Given the description of an element on the screen output the (x, y) to click on. 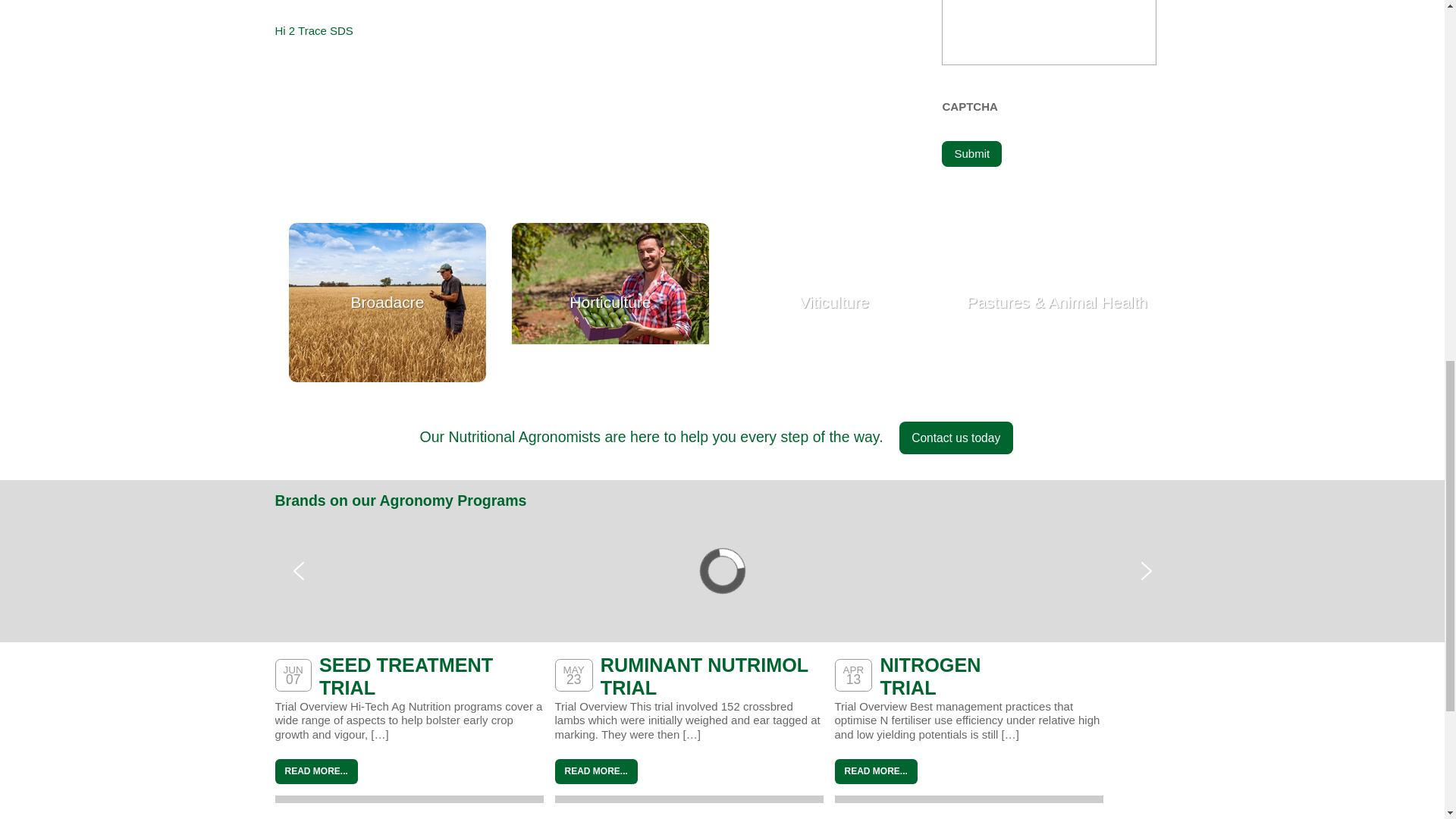
Contact us today (956, 437)
READ MORE... (315, 771)
RUMINANT NUTRIMOL TRIAL (703, 676)
Horticulture (610, 302)
Submit (971, 153)
SEED TREATMENT TRIAL (405, 676)
Hi 2 Trace SDS (313, 30)
Broadacre (387, 302)
Submit (971, 153)
READ MORE... (595, 771)
